Given the description of an element on the screen output the (x, y) to click on. 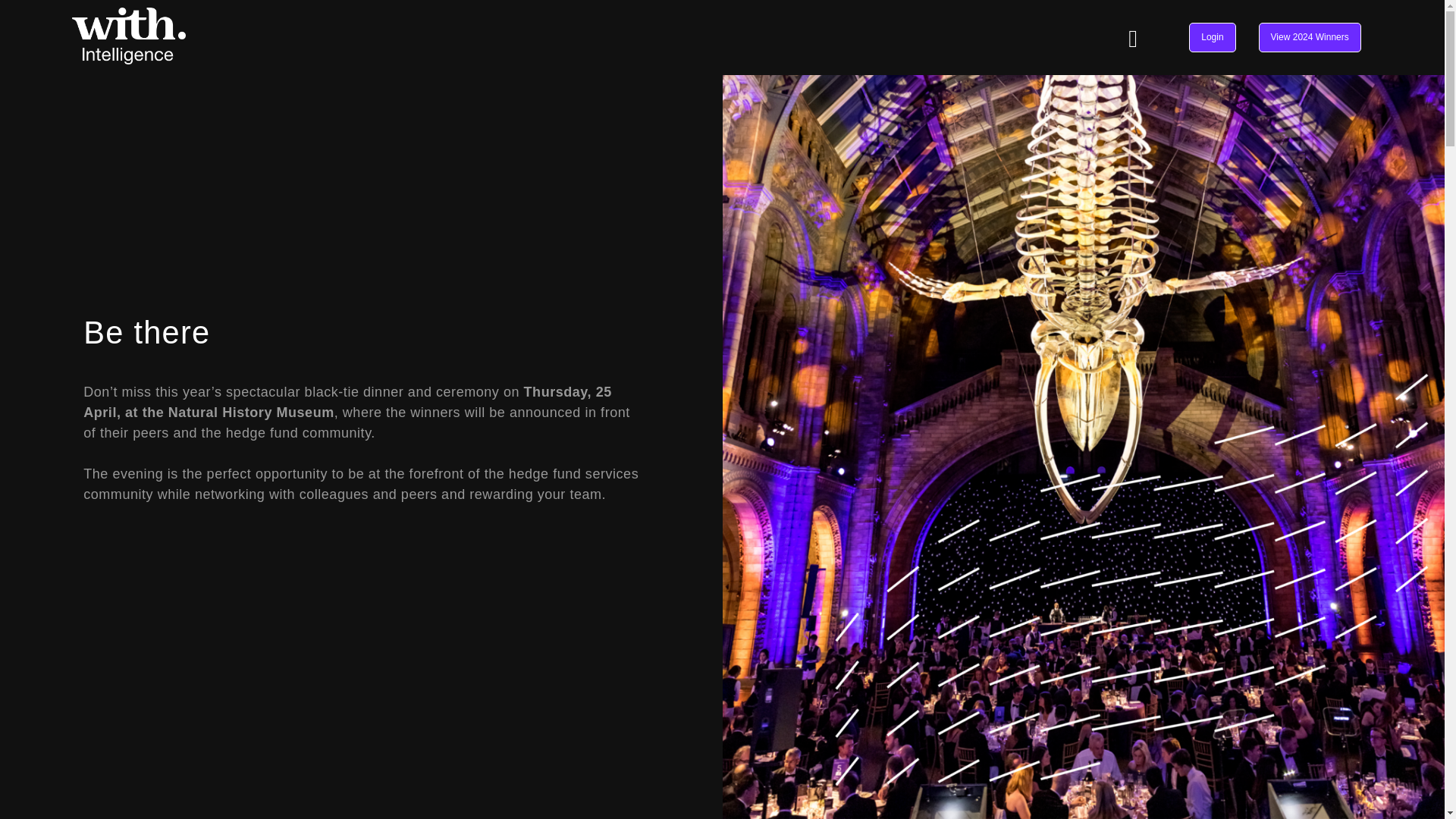
Login (1211, 37)
View 2024 Winners (1310, 37)
